Given the description of an element on the screen output the (x, y) to click on. 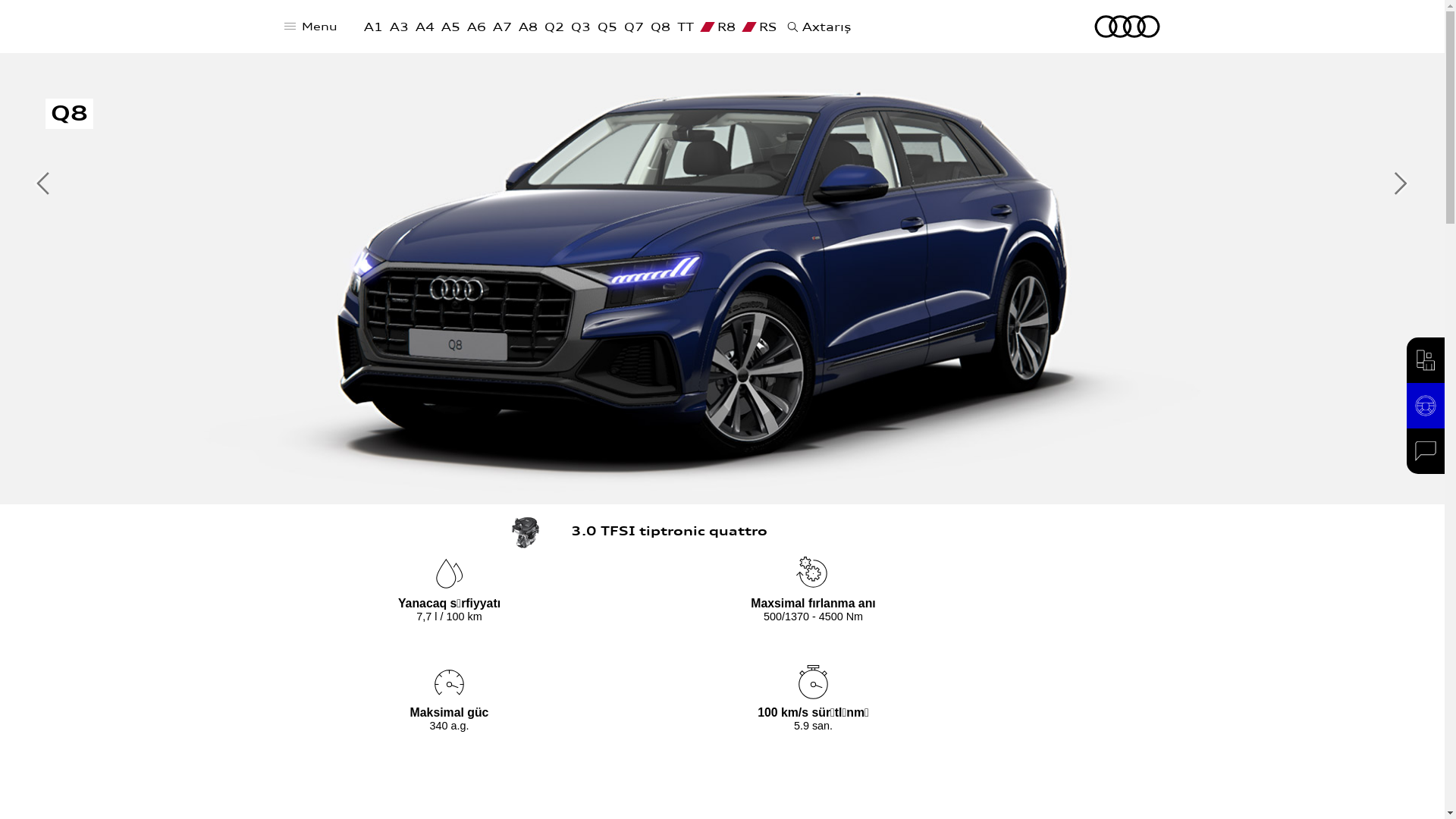
Q3 Element type: text (580, 28)
Q5 Element type: text (607, 28)
A1 Element type: text (373, 28)
Q8 Element type: text (660, 28)
TT Element type: text (685, 28)
R8 Element type: text (717, 28)
A3 Element type: text (398, 28)
Q7 Element type: text (633, 28)
Next Element type: text (1400, 183)
Menu Element type: text (310, 29)
RS Element type: text (759, 28)
A4 Element type: text (424, 28)
A8 Element type: text (527, 28)
A5 Element type: text (450, 28)
Prev Element type: text (43, 183)
A7 Element type: text (501, 28)
Q2 Element type: text (554, 28)
A6 Element type: text (476, 28)
